Given the description of an element on the screen output the (x, y) to click on. 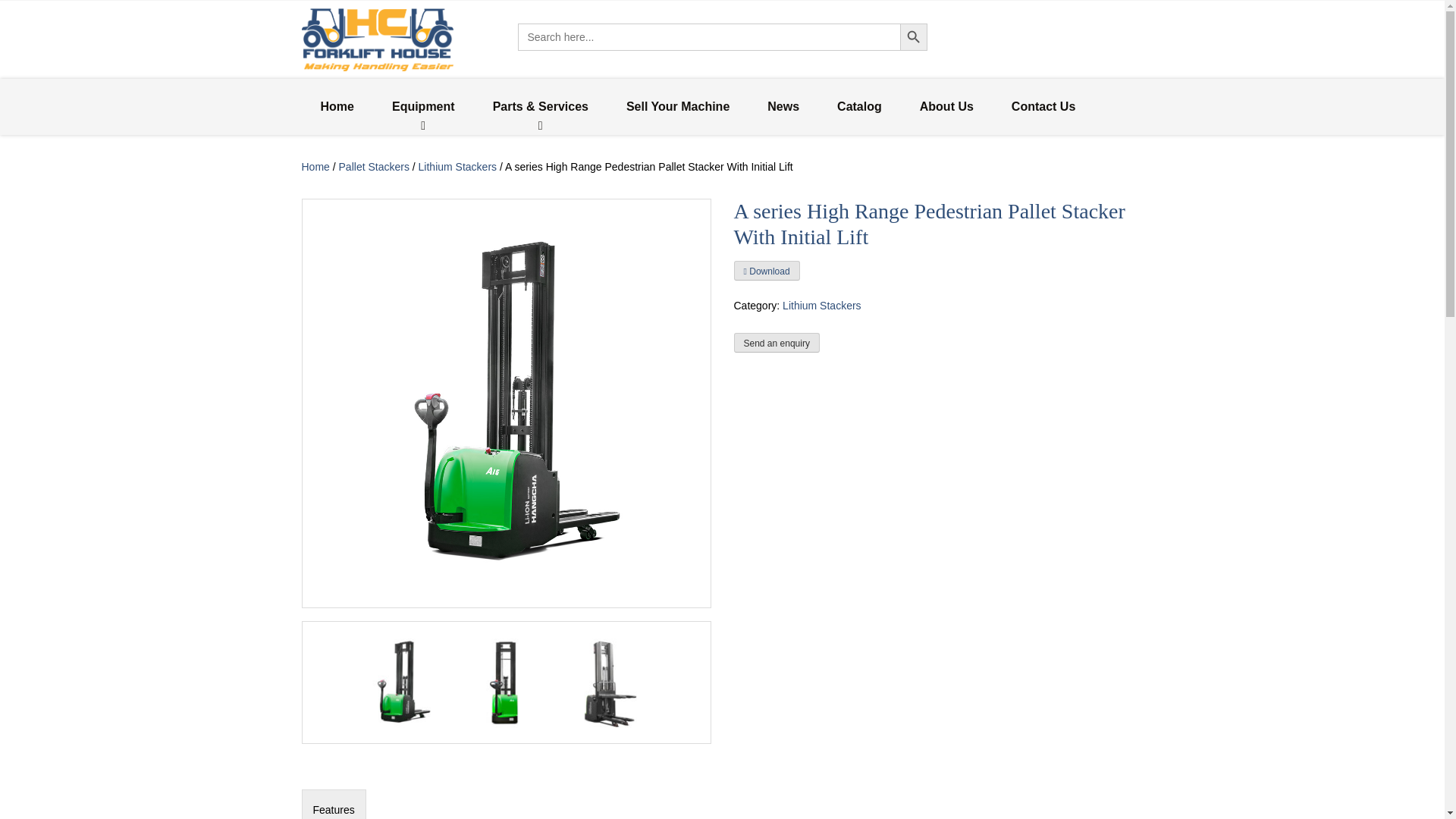
Catalog (859, 106)
Sell Your Machine (677, 106)
Lithium Stackers (457, 166)
Pallet Stackers (374, 166)
News (783, 106)
Search Button (912, 36)
Download (766, 270)
About Us (946, 106)
Contact Us (1043, 106)
Home (315, 166)
Equipment (423, 106)
Home (336, 106)
